Given the description of an element on the screen output the (x, y) to click on. 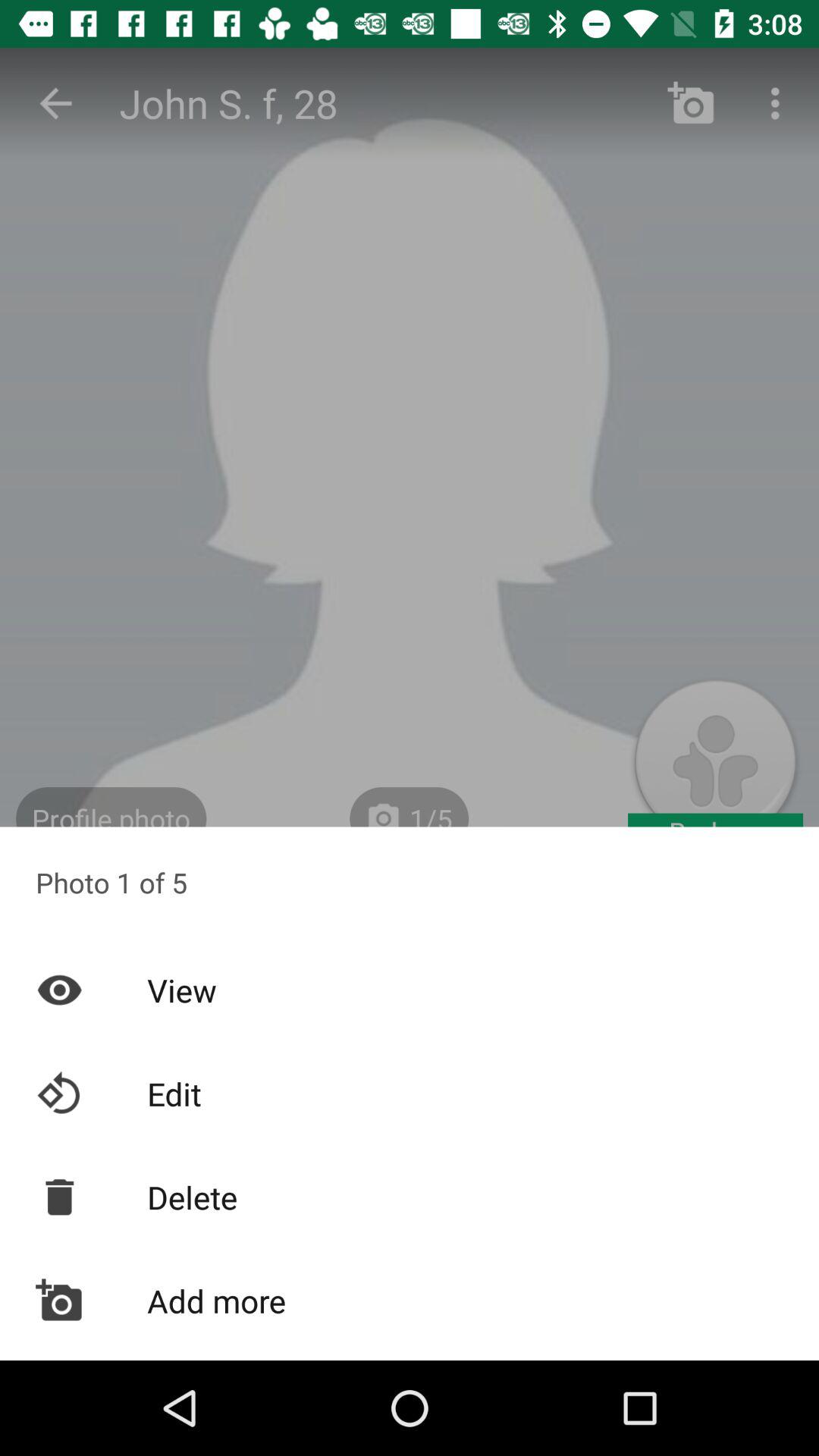
select item below delete (409, 1300)
